Given the description of an element on the screen output the (x, y) to click on. 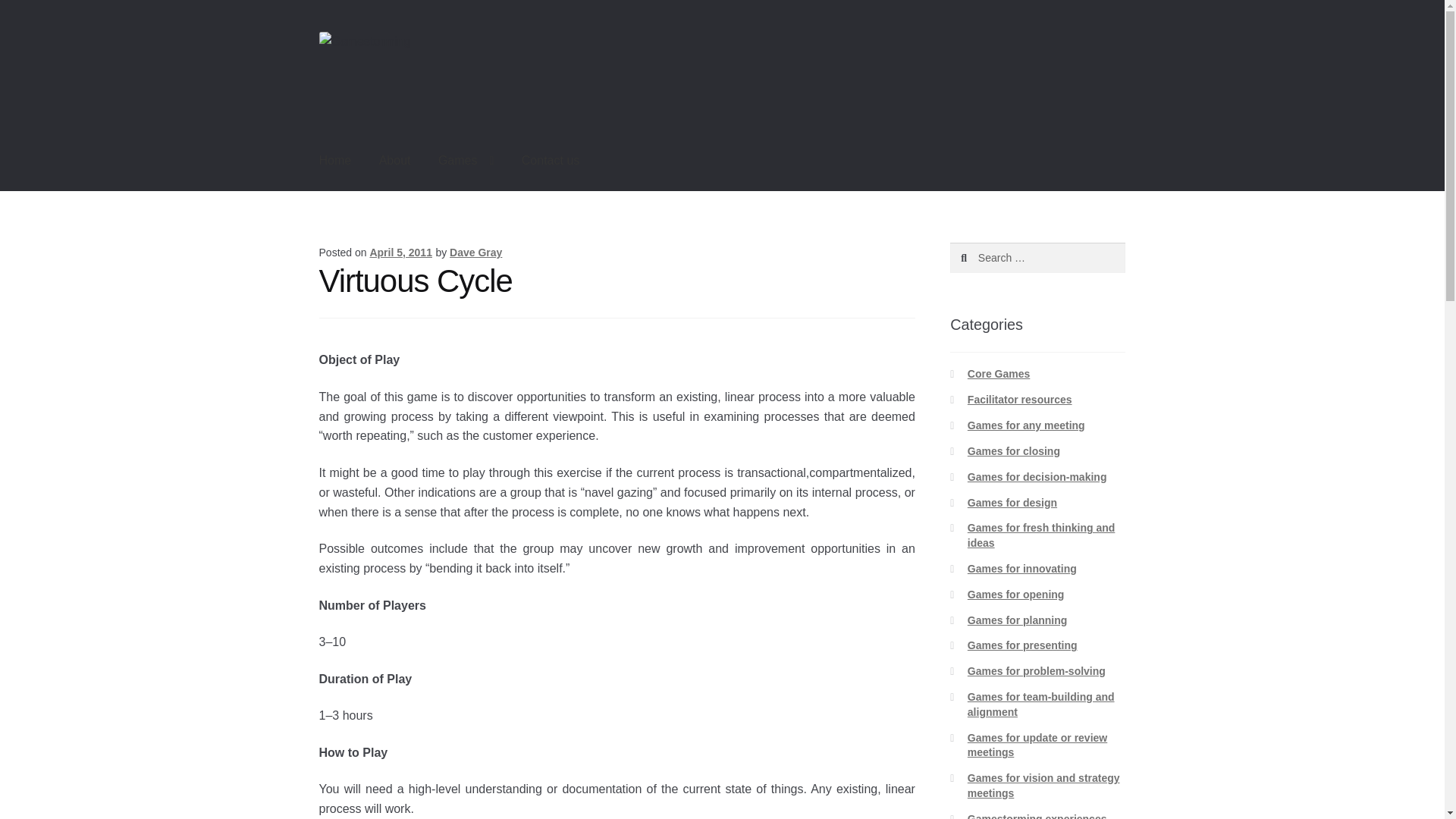
Home (335, 160)
Games (465, 160)
About (394, 160)
Dave Gray (475, 252)
Contact us (550, 160)
April 5, 2011 (400, 252)
